Given the description of an element on the screen output the (x, y) to click on. 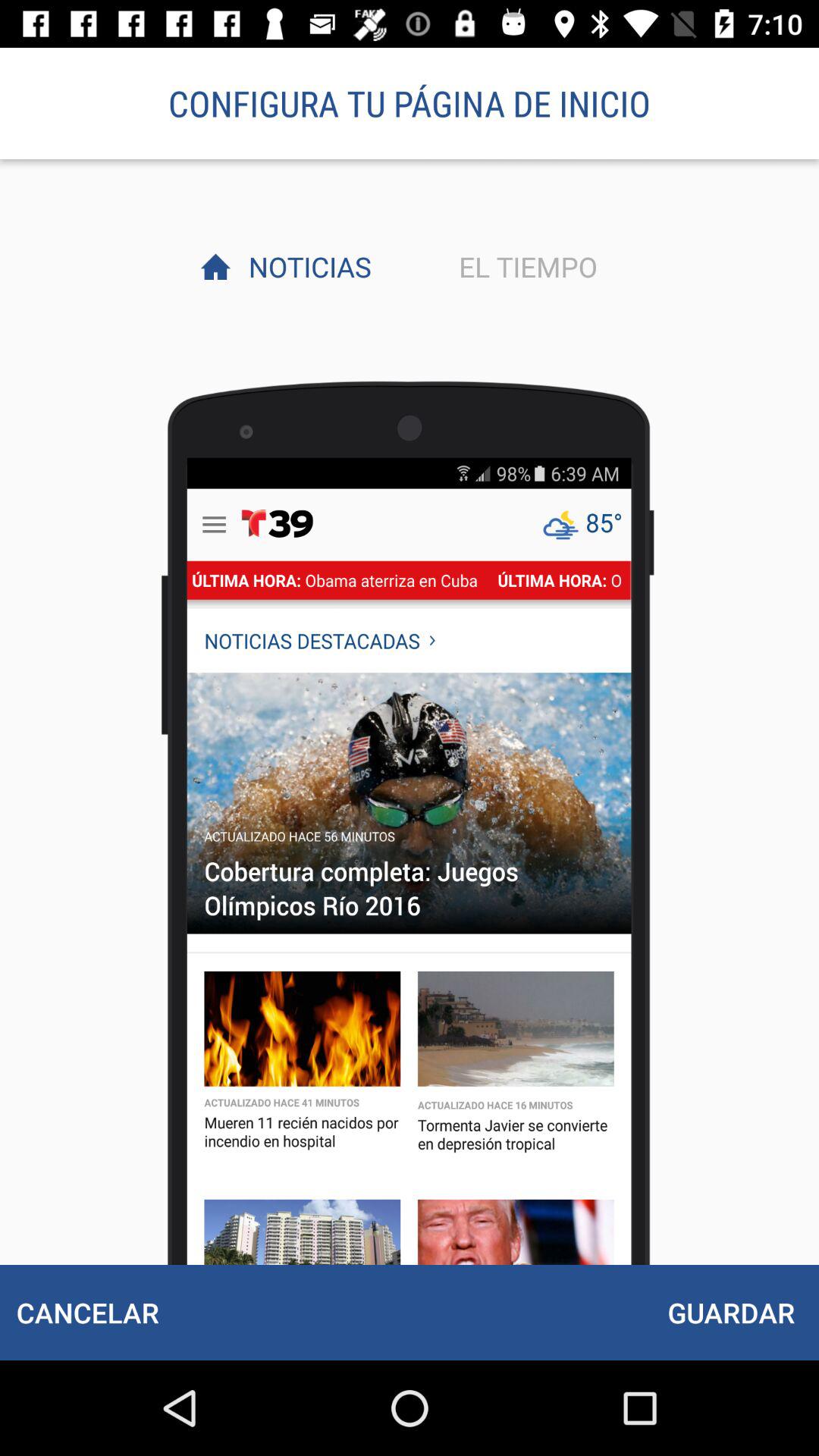
flip until the el tiempo icon (524, 266)
